Given the description of an element on the screen output the (x, y) to click on. 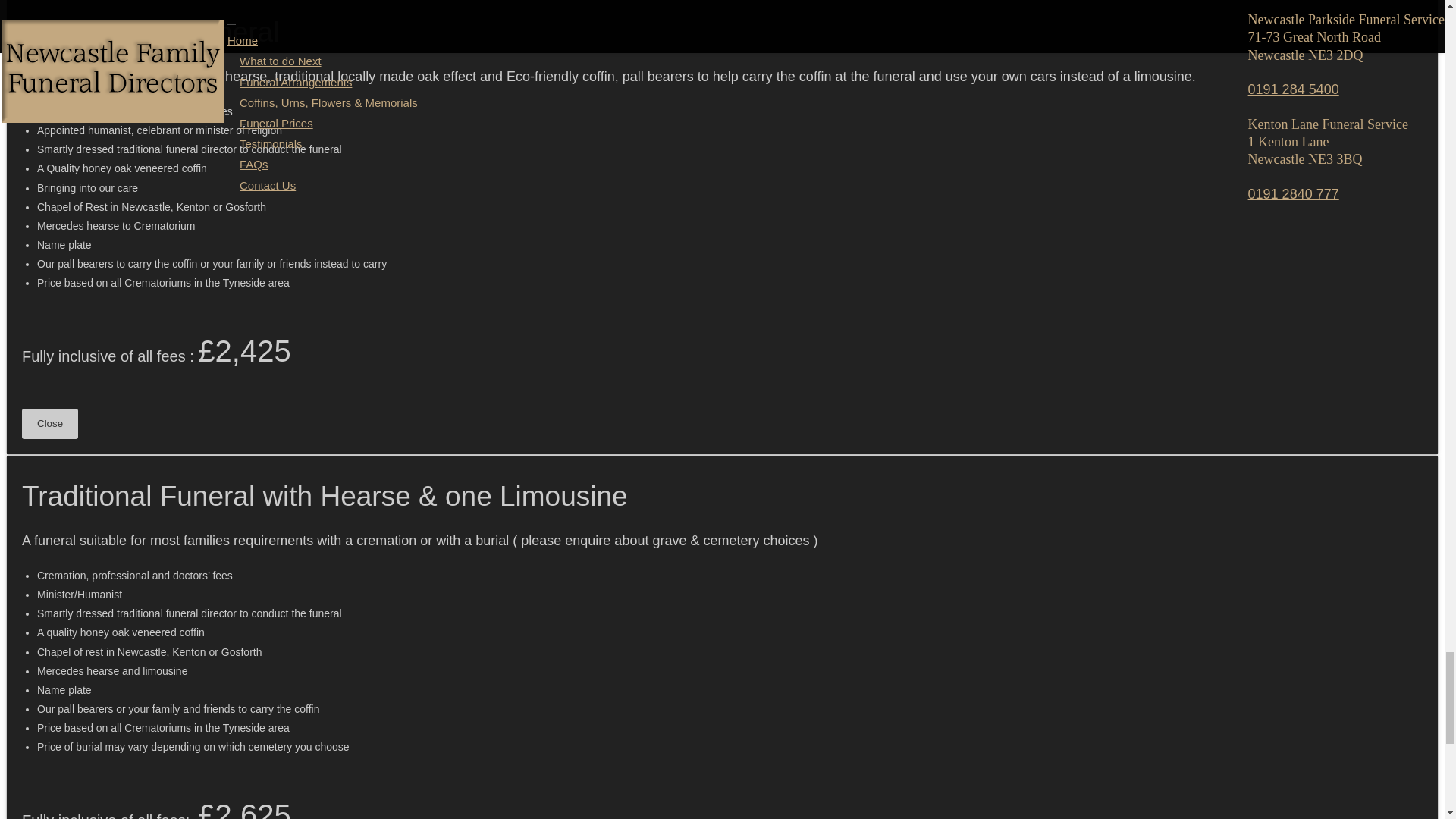
Close (49, 423)
